Given the description of an element on the screen output the (x, y) to click on. 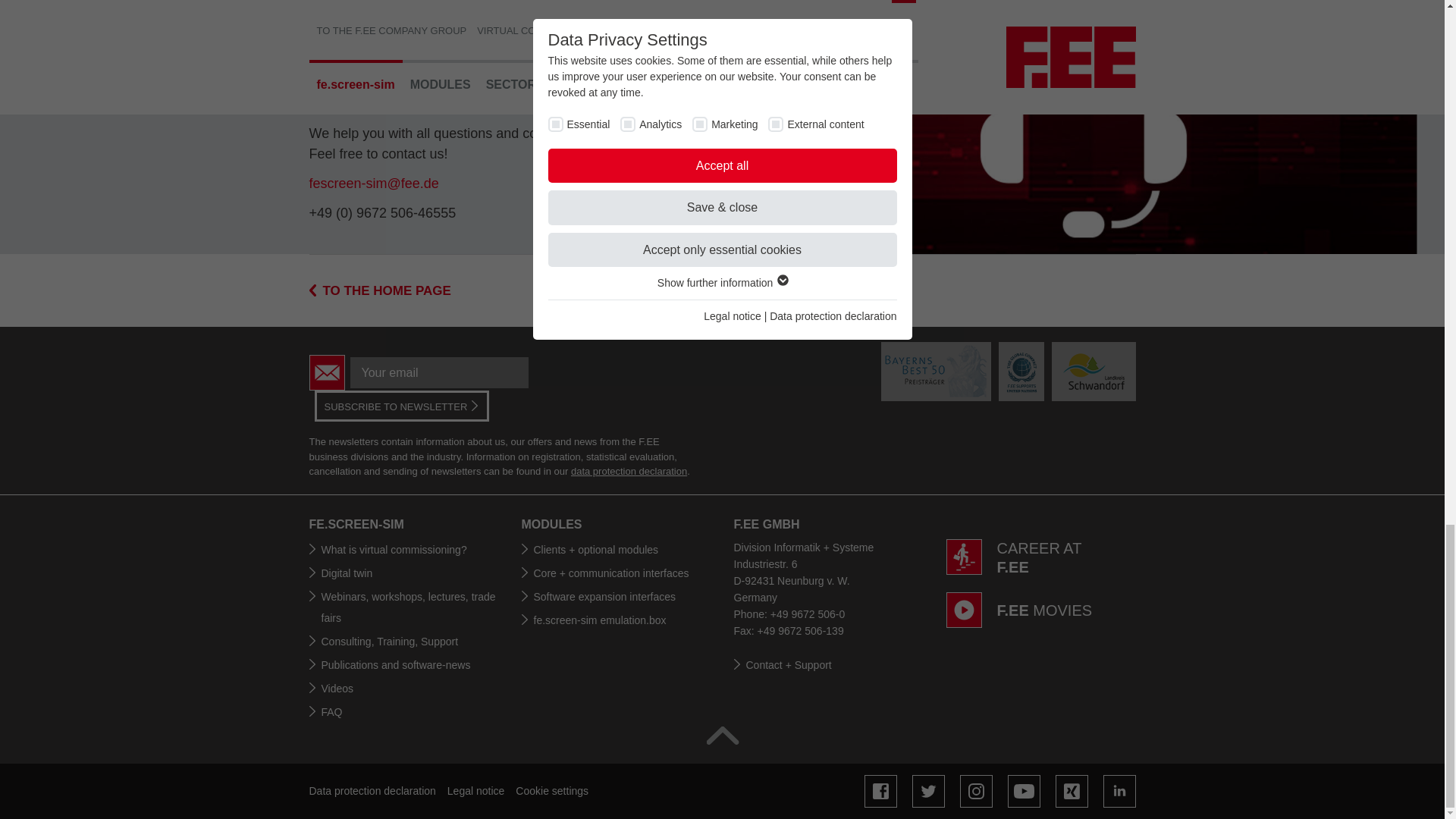
Youtube (1023, 790)
Facebook (880, 790)
The Global Compact - F.EE supprts United Nations (1020, 371)
go to top (722, 735)
Landkreis Schwandorf (1093, 371)
Xing (1071, 790)
Twitter (927, 790)
Instagram (975, 790)
Linkedin (1118, 790)
go to top (722, 735)
